Given the description of an element on the screen output the (x, y) to click on. 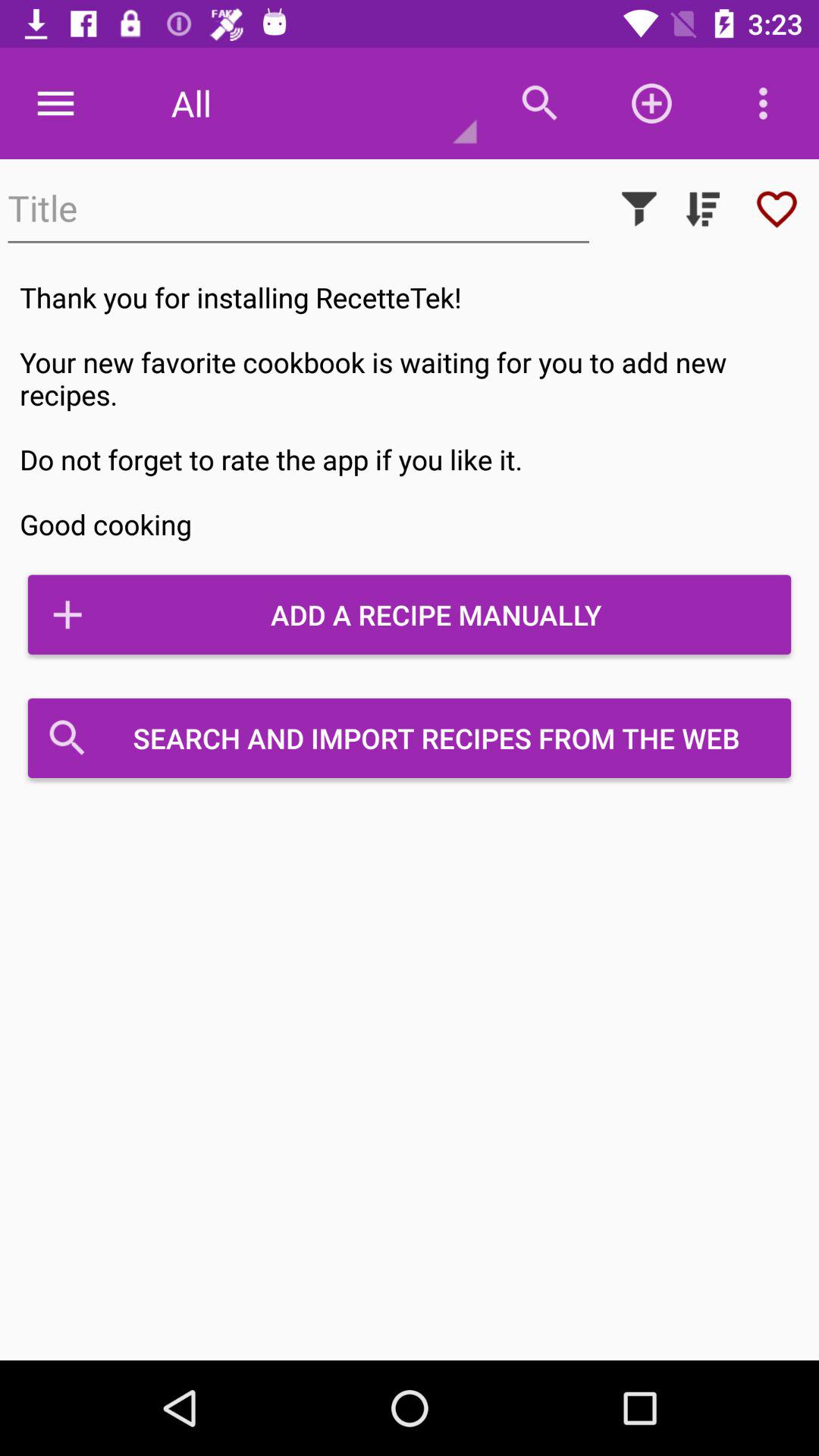
press the item above thank you for icon (639, 208)
